Given the description of an element on the screen output the (x, y) to click on. 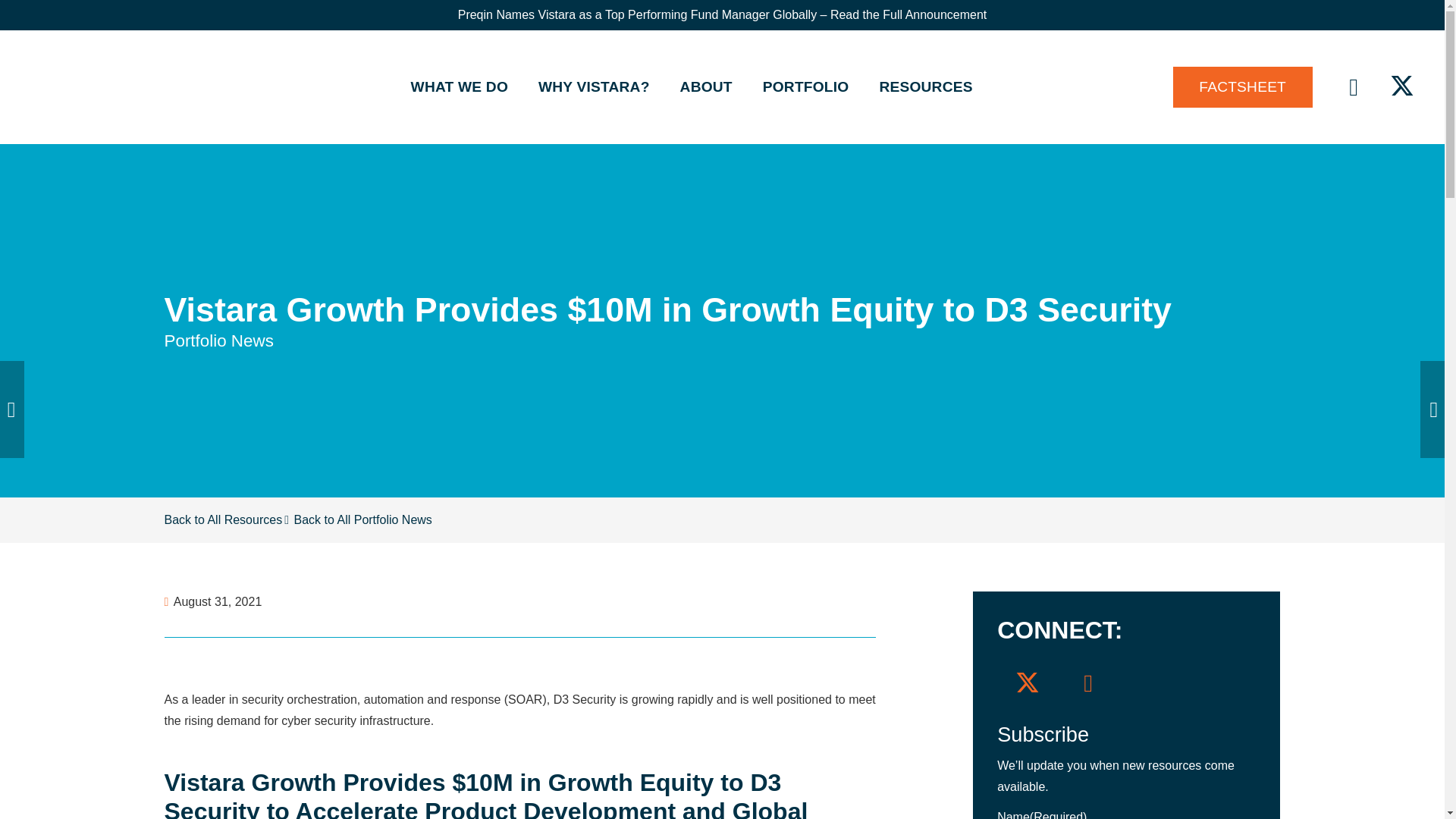
Twitter (1027, 682)
LinkedIn (1088, 682)
LinkedIn (1353, 87)
RESOURCES (925, 87)
WHAT WE DO (459, 87)
Resources (222, 519)
WHY VISTARA? (593, 87)
Portfolio News (392, 519)
Twitter (1401, 87)
Back to All Resources (222, 519)
PORTFOLIO (806, 87)
Portfolio News (218, 340)
FACTSHEET (1243, 86)
